Given the description of an element on the screen output the (x, y) to click on. 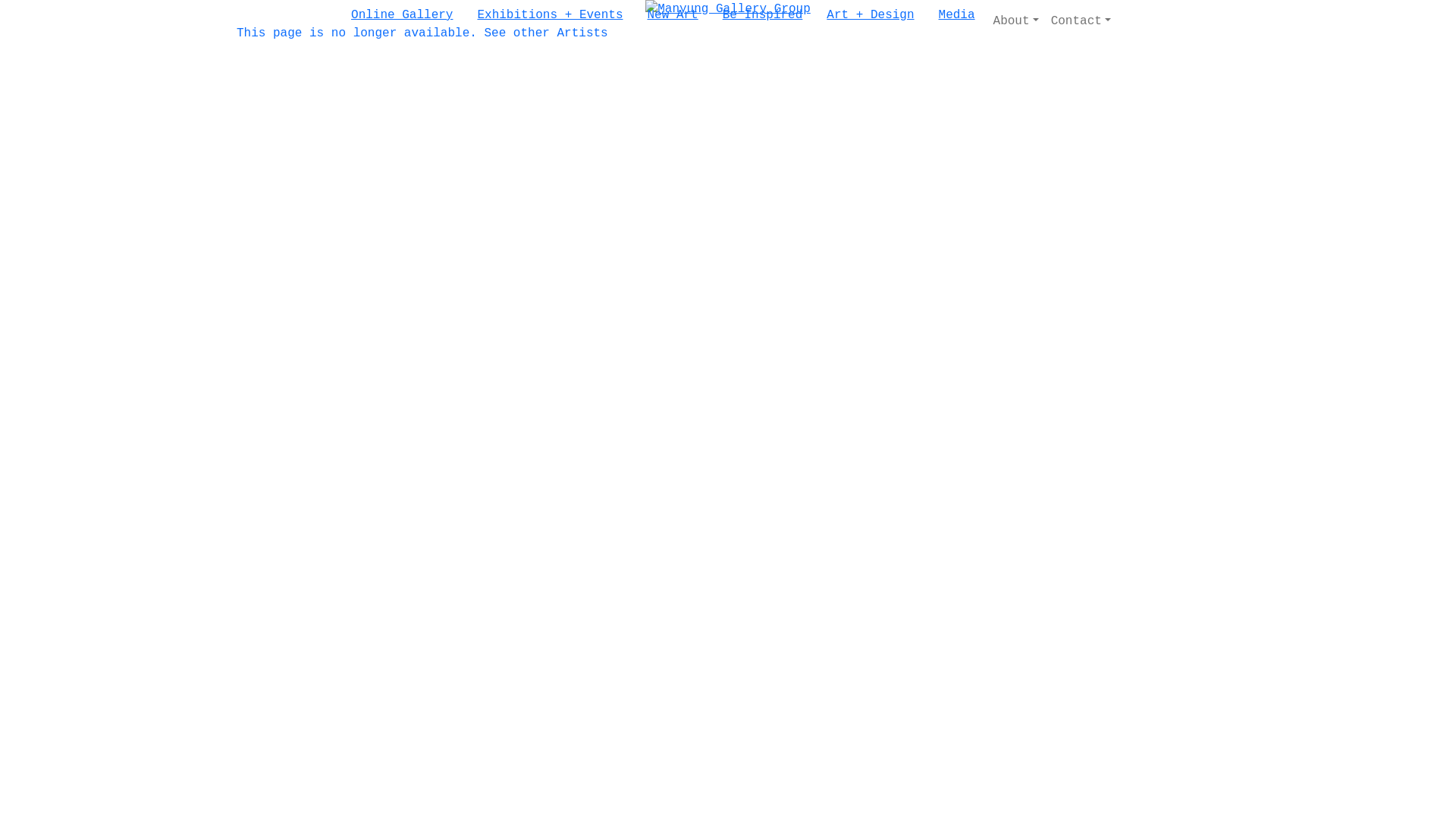
Manyung Gallery Group Element type: hover (727, 9)
This page is no longer available. See other Artists Element type: text (422, 33)
About Element type: text (1015, 21)
Manyung Gallery Group Element type: hover (727, 8)
Contact Element type: text (1080, 21)
